Given the description of an element on the screen output the (x, y) to click on. 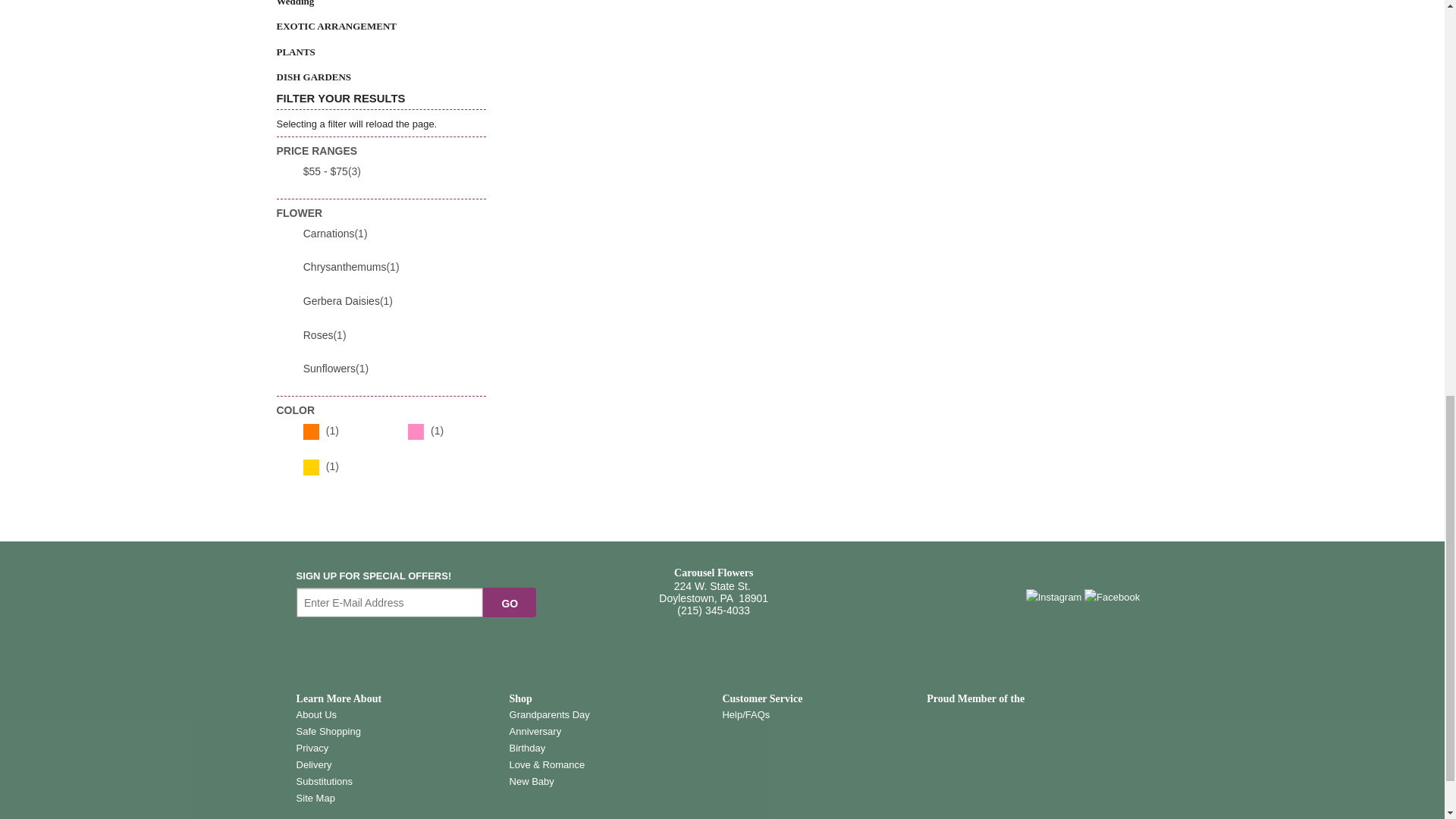
go (509, 603)
Email Sign up (390, 603)
Go (509, 603)
